Given the description of an element on the screen output the (x, y) to click on. 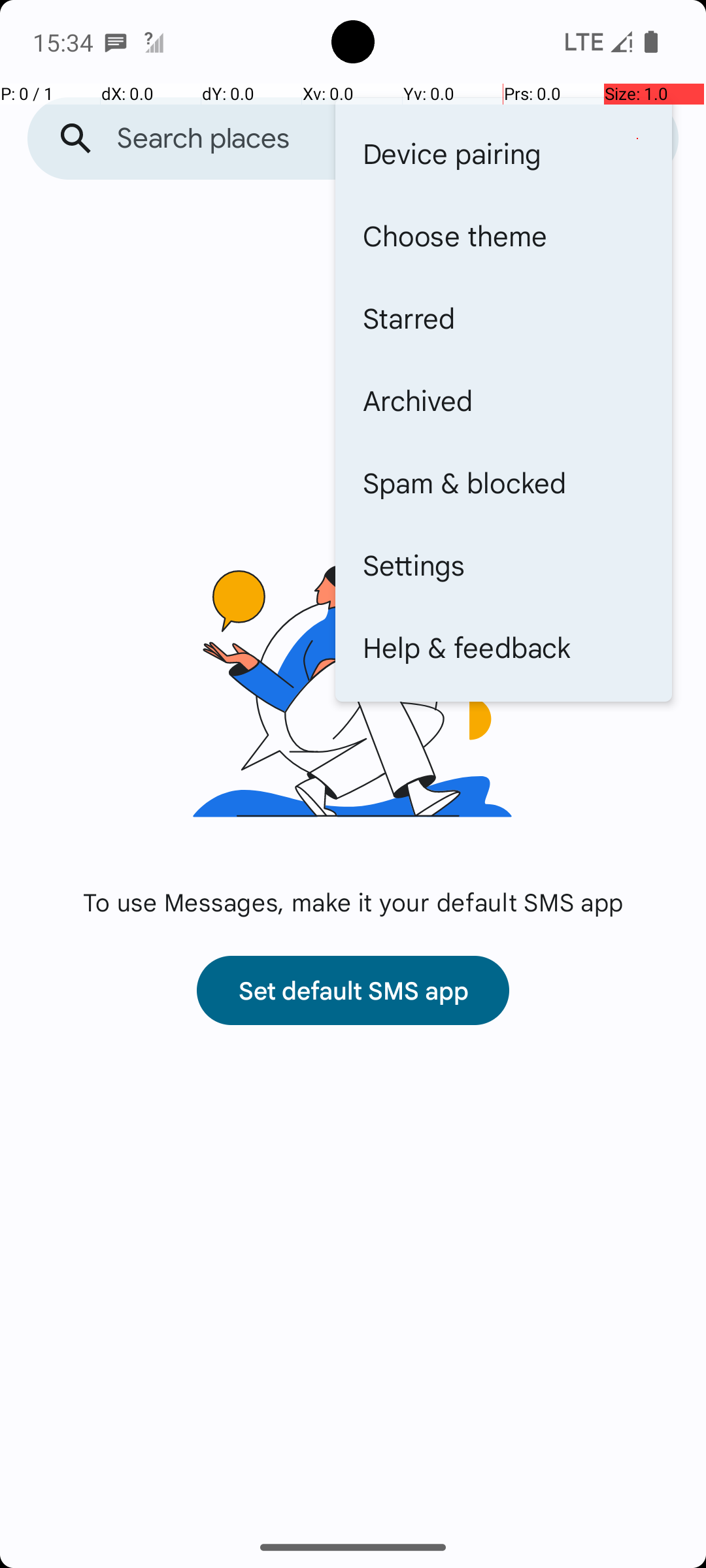
Device pairing Element type: android.widget.TextView (503, 152)
Choose theme Element type: android.widget.TextView (503, 234)
Starred Element type: android.widget.TextView (503, 317)
Archived Element type: android.widget.TextView (503, 399)
Spam & blocked Element type: android.widget.TextView (503, 481)
